Given the description of an element on the screen output the (x, y) to click on. 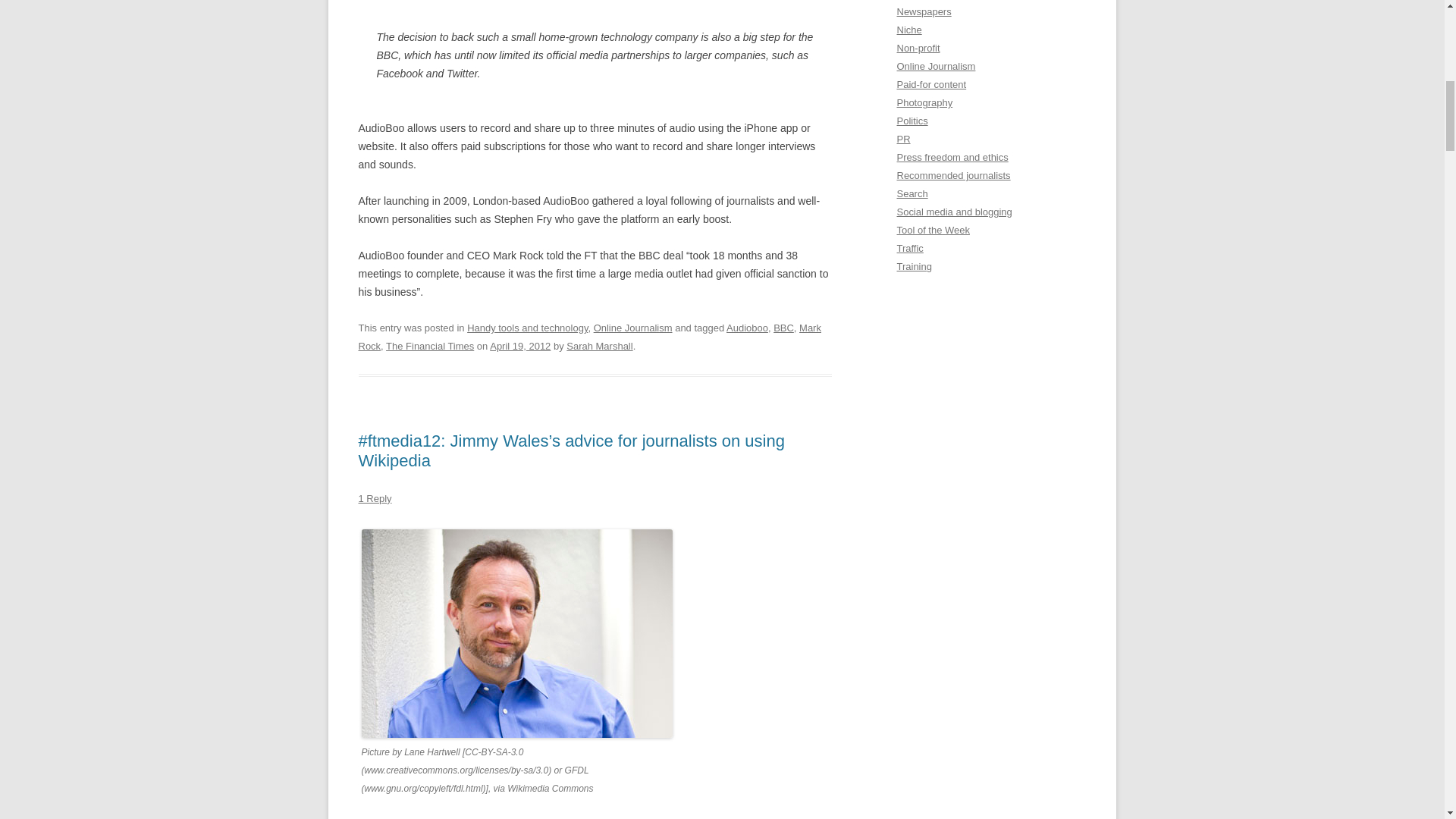
Jimmy Wales (516, 633)
1 Reply (374, 498)
Online Journalism (633, 327)
The Financial Times (429, 346)
April 19, 2012 (519, 346)
View all posts by Sarah Marshall (598, 346)
Mark Rock (589, 337)
Handy tools and technology (527, 327)
BBC (783, 327)
Audioboo (747, 327)
Sarah Marshall (598, 346)
2:13 pm (519, 346)
